Given the description of an element on the screen output the (x, y) to click on. 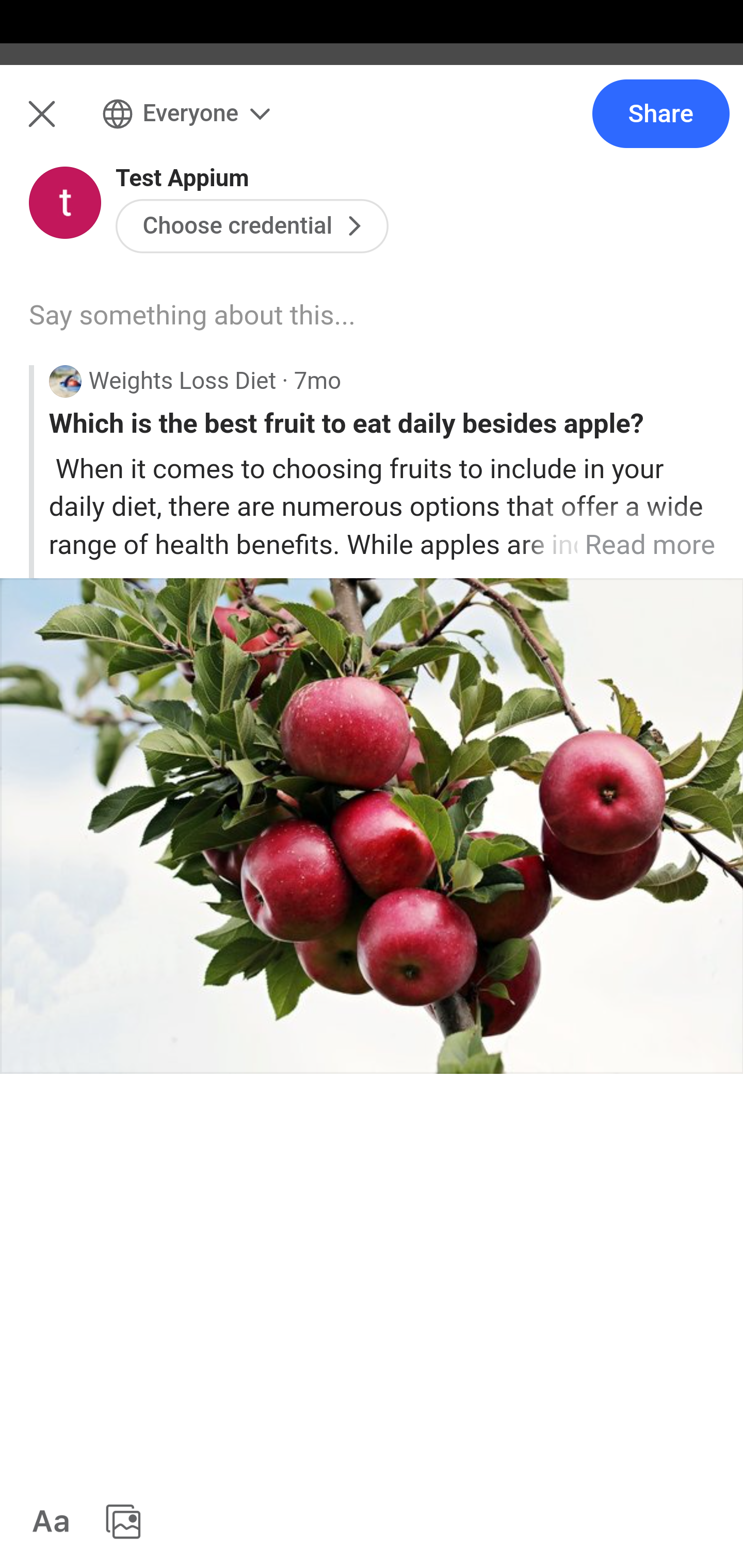
Me Home Search Add (371, 125)
Me (64, 125)
What do you want to ask or share? (408, 216)
